Given the description of an element on the screen output the (x, y) to click on. 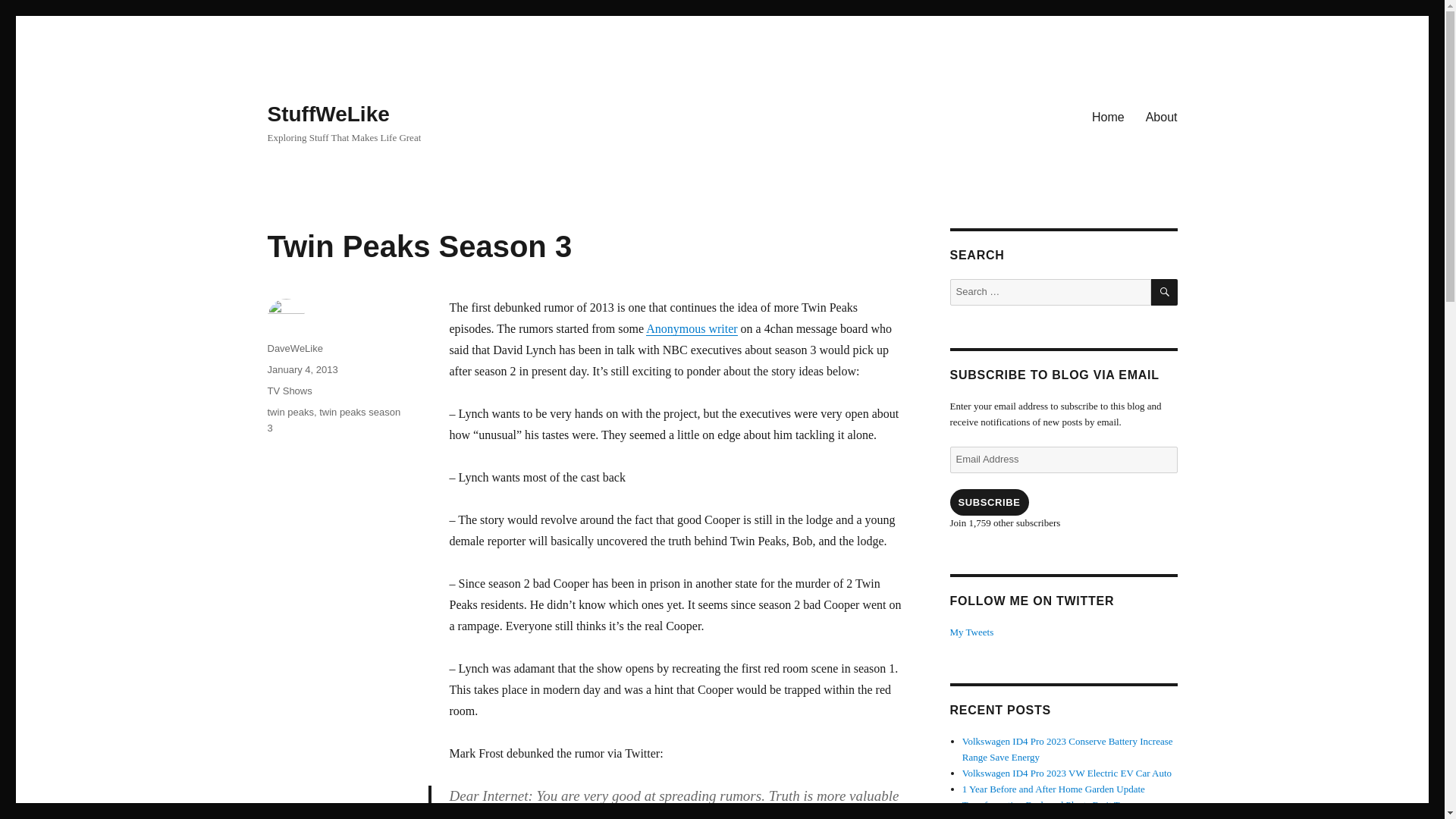
mfrost11 (753, 814)
January 4, 2013 (301, 369)
DaveWeLike (293, 348)
twin peaks season 3 (333, 420)
twin peaks (289, 411)
StuffWeLike (327, 114)
SUBSCRIBE (988, 501)
SEARCH (1164, 292)
Home (1108, 116)
My Tweets (970, 632)
Volkswagen ID4 Pro 2023 VW Electric EV Car Auto (1067, 772)
About (1161, 116)
TV Shows (288, 390)
